Given the description of an element on the screen output the (x, y) to click on. 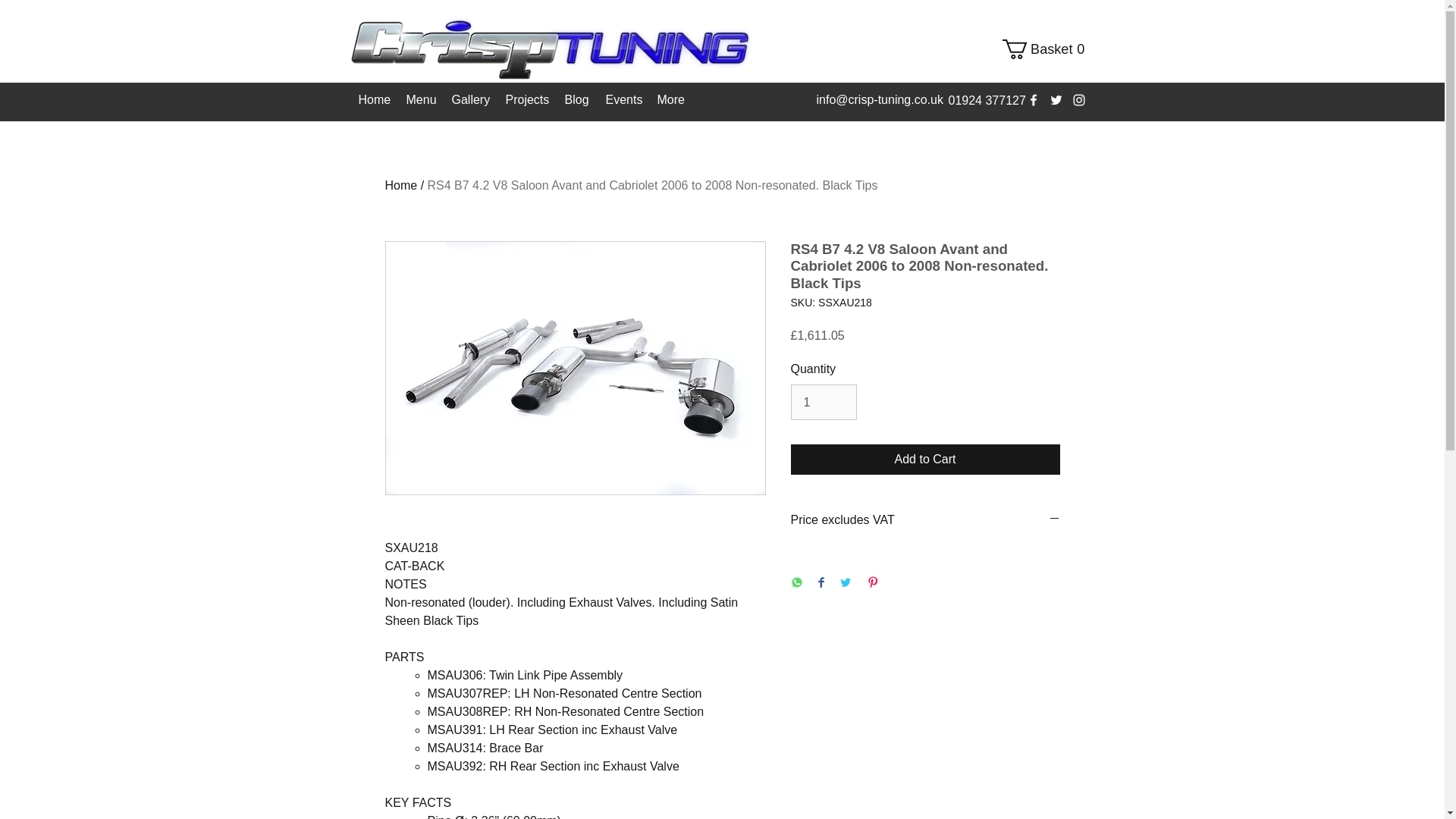
Gallery (470, 99)
Add to Cart (924, 459)
Blog (576, 99)
Projects (526, 99)
1 (1048, 48)
Home (823, 401)
Price excludes VAT (1048, 48)
